Given the description of an element on the screen output the (x, y) to click on. 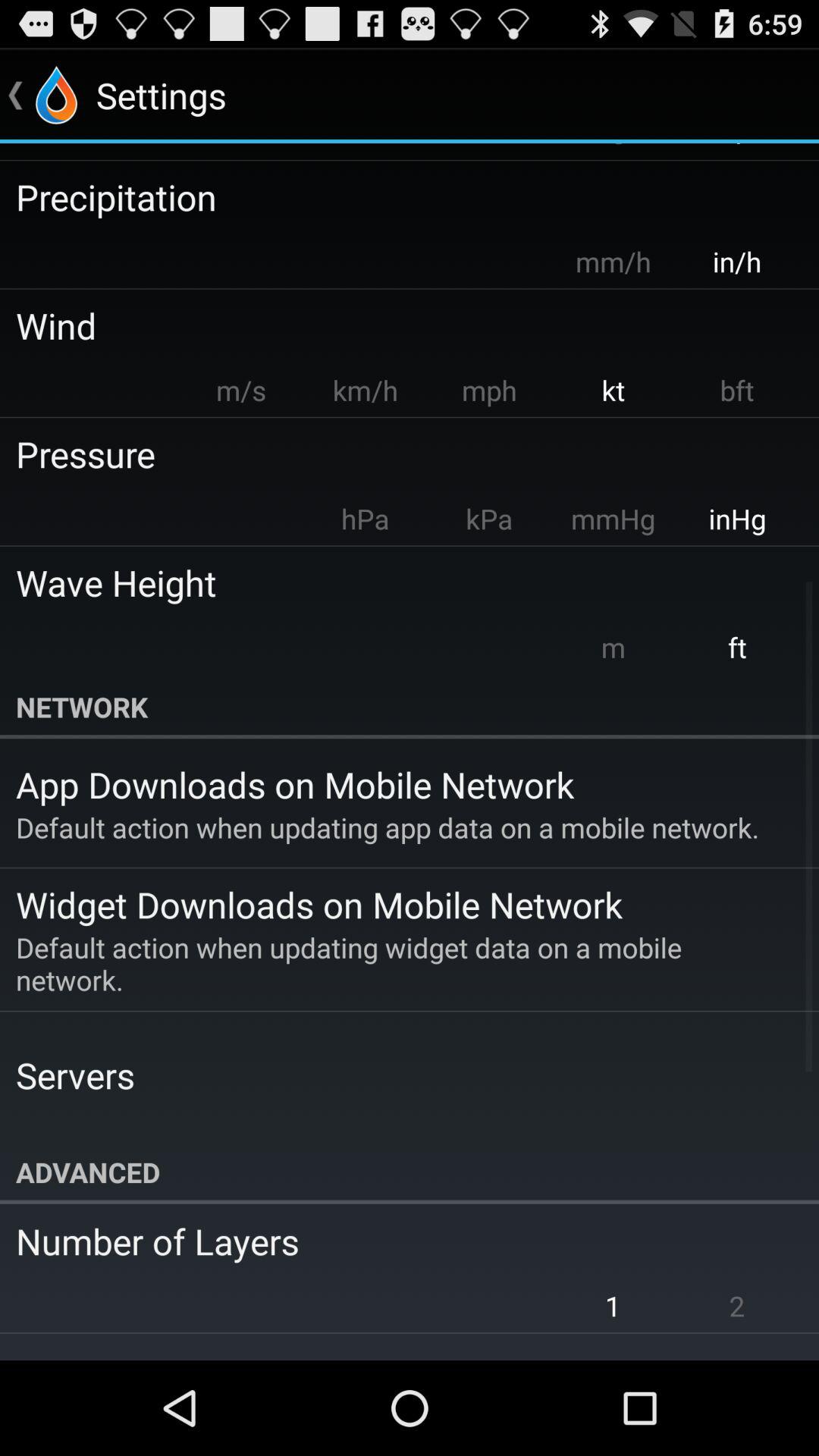
click the icon above pressure icon (489, 389)
